Given the description of an element on the screen output the (x, y) to click on. 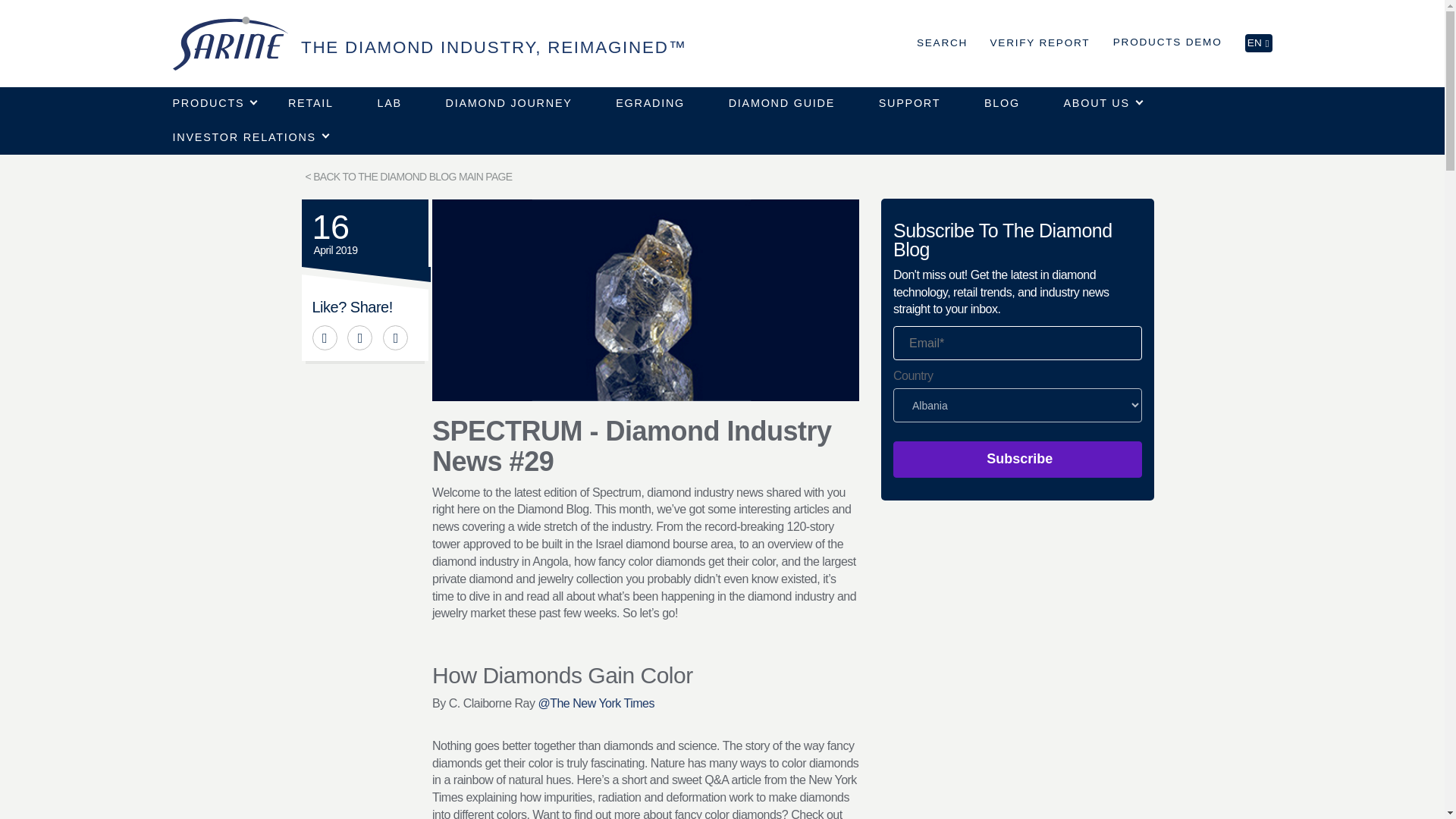
Subscribe (1017, 459)
